Given the description of an element on the screen output the (x, y) to click on. 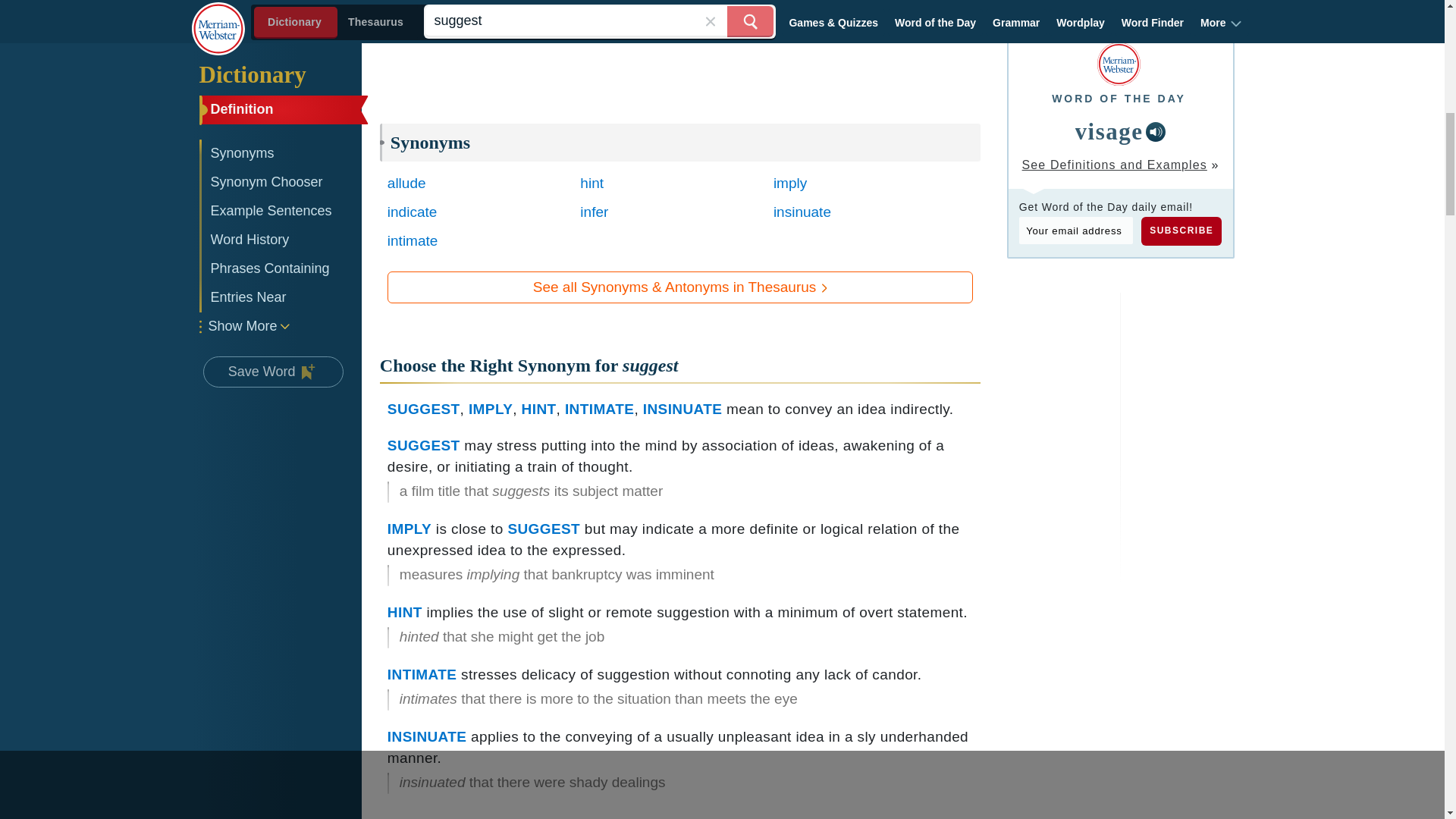
SUBSCRIBE (1181, 231)
Merriam Webster (1118, 63)
Listen to the pronunciation of visage (1155, 131)
